Given the description of an element on the screen output the (x, y) to click on. 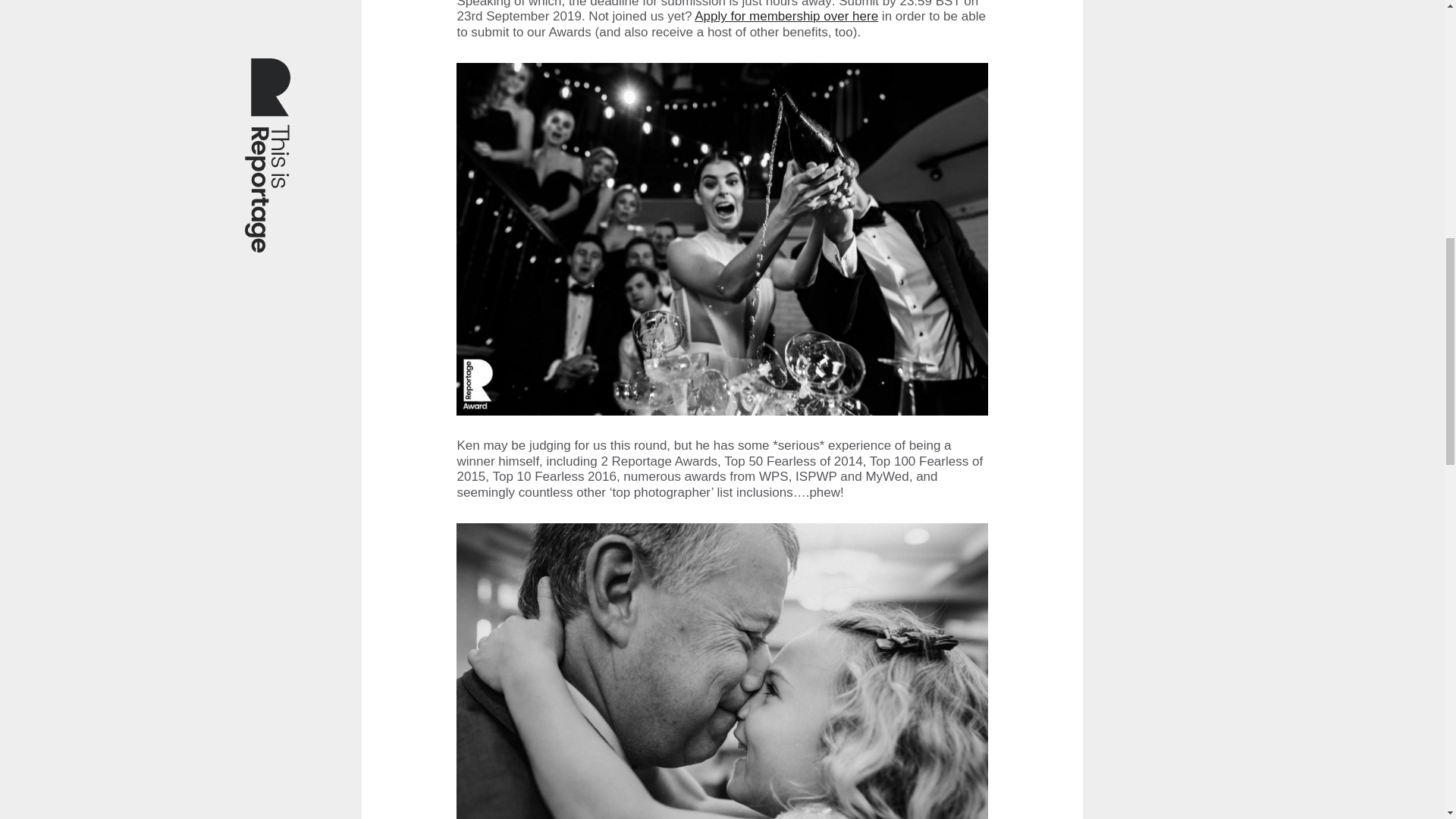
Apply for membership over here (785, 16)
